Given the description of an element on the screen output the (x, y) to click on. 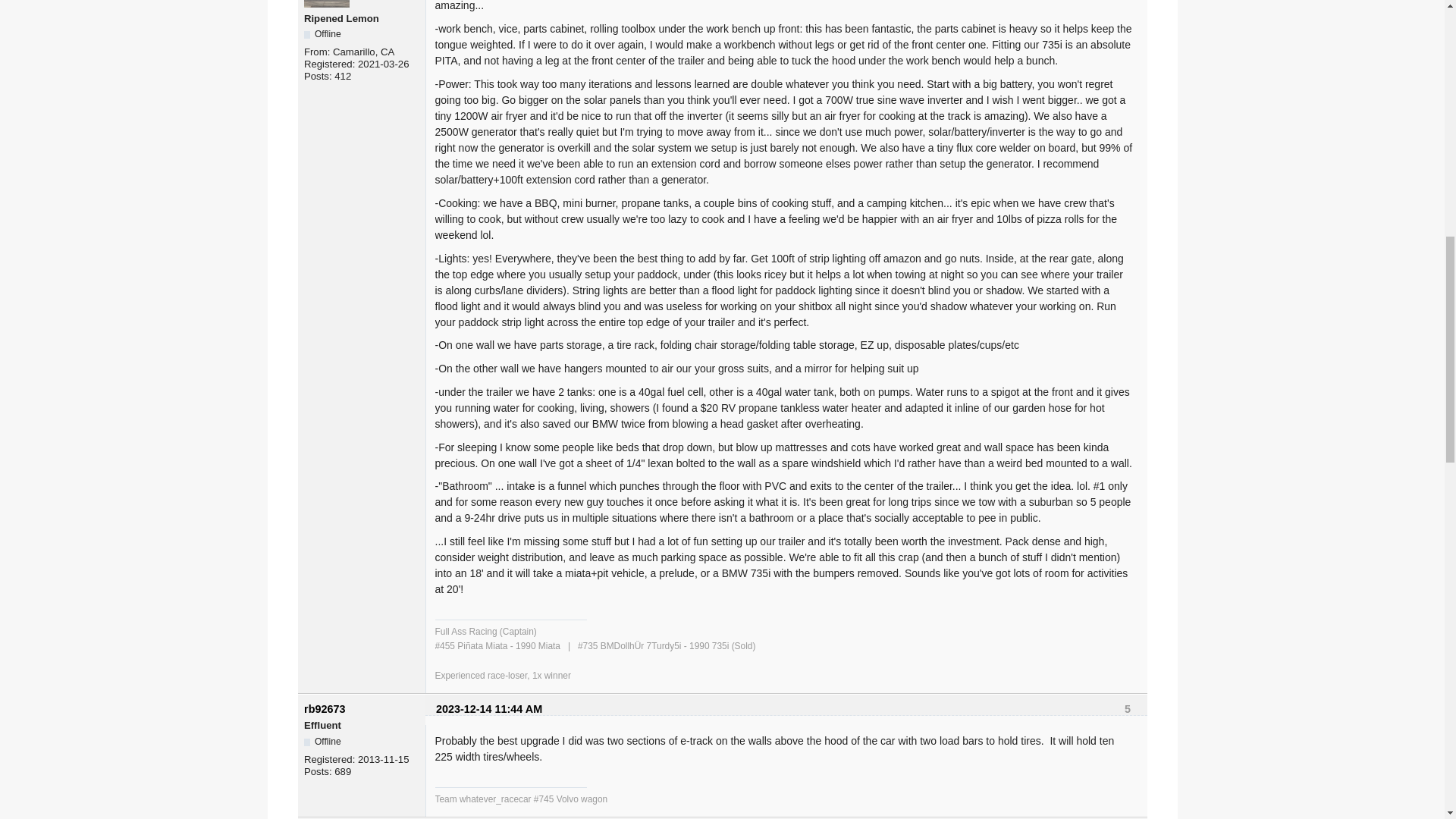
Go to rb92673's profile (324, 708)
